Given the description of an element on the screen output the (x, y) to click on. 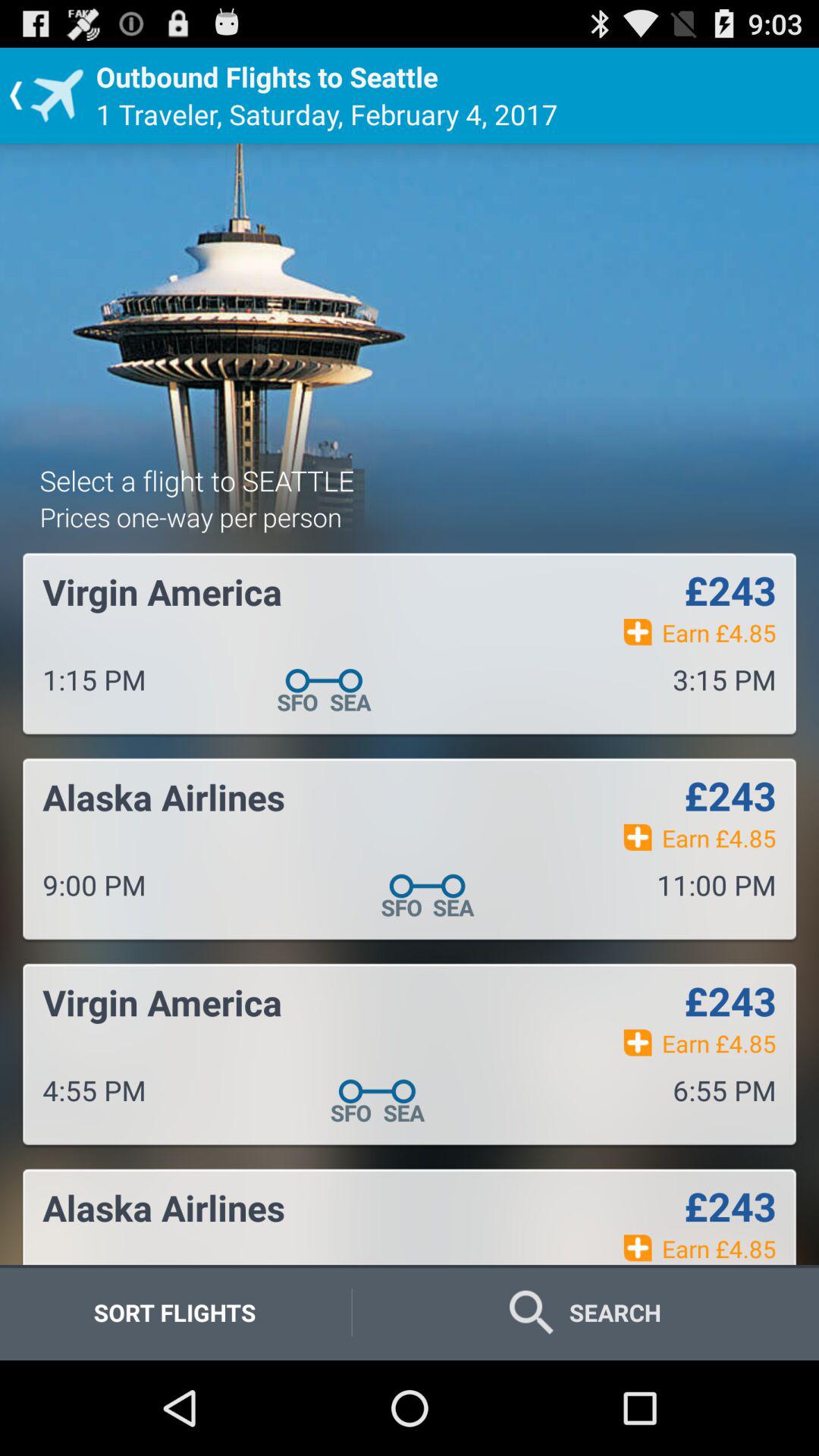
choose the icon below 1 traveler saturday app (196, 480)
